Given the description of an element on the screen output the (x, y) to click on. 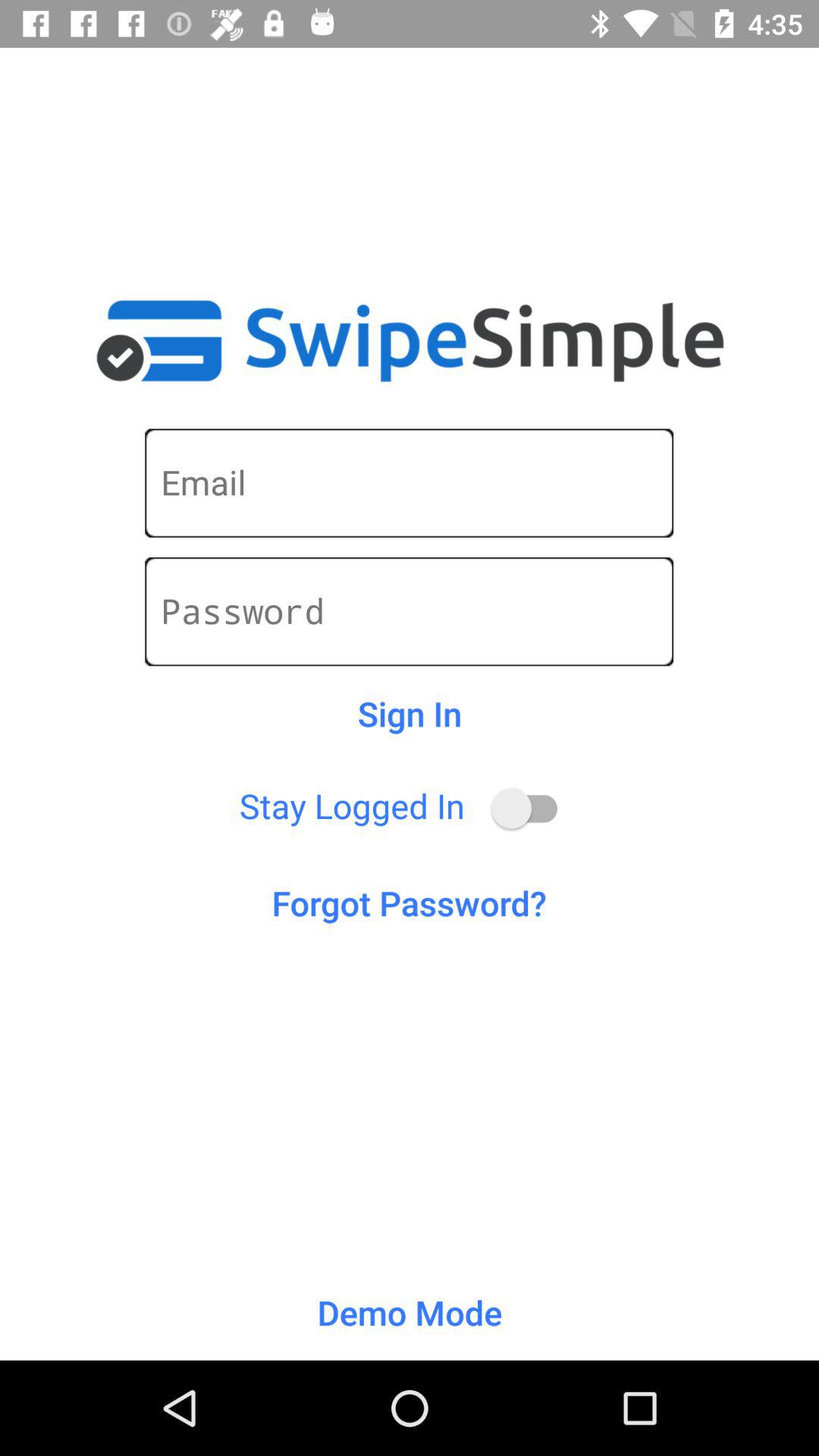
jump until the sign in (409, 713)
